Given the description of an element on the screen output the (x, y) to click on. 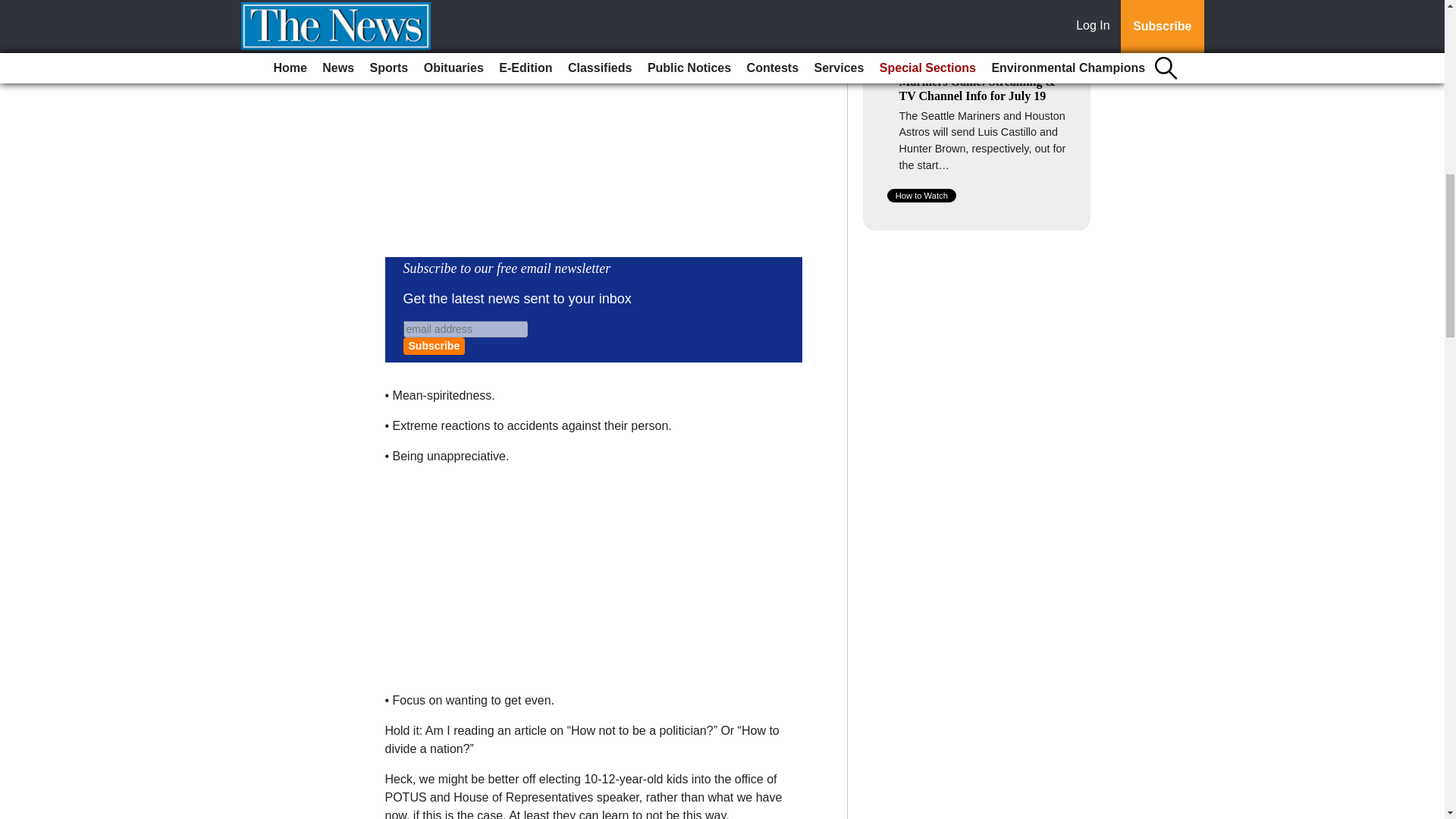
Subscribe (434, 345)
Subscribe (434, 345)
